Given the description of an element on the screen output the (x, y) to click on. 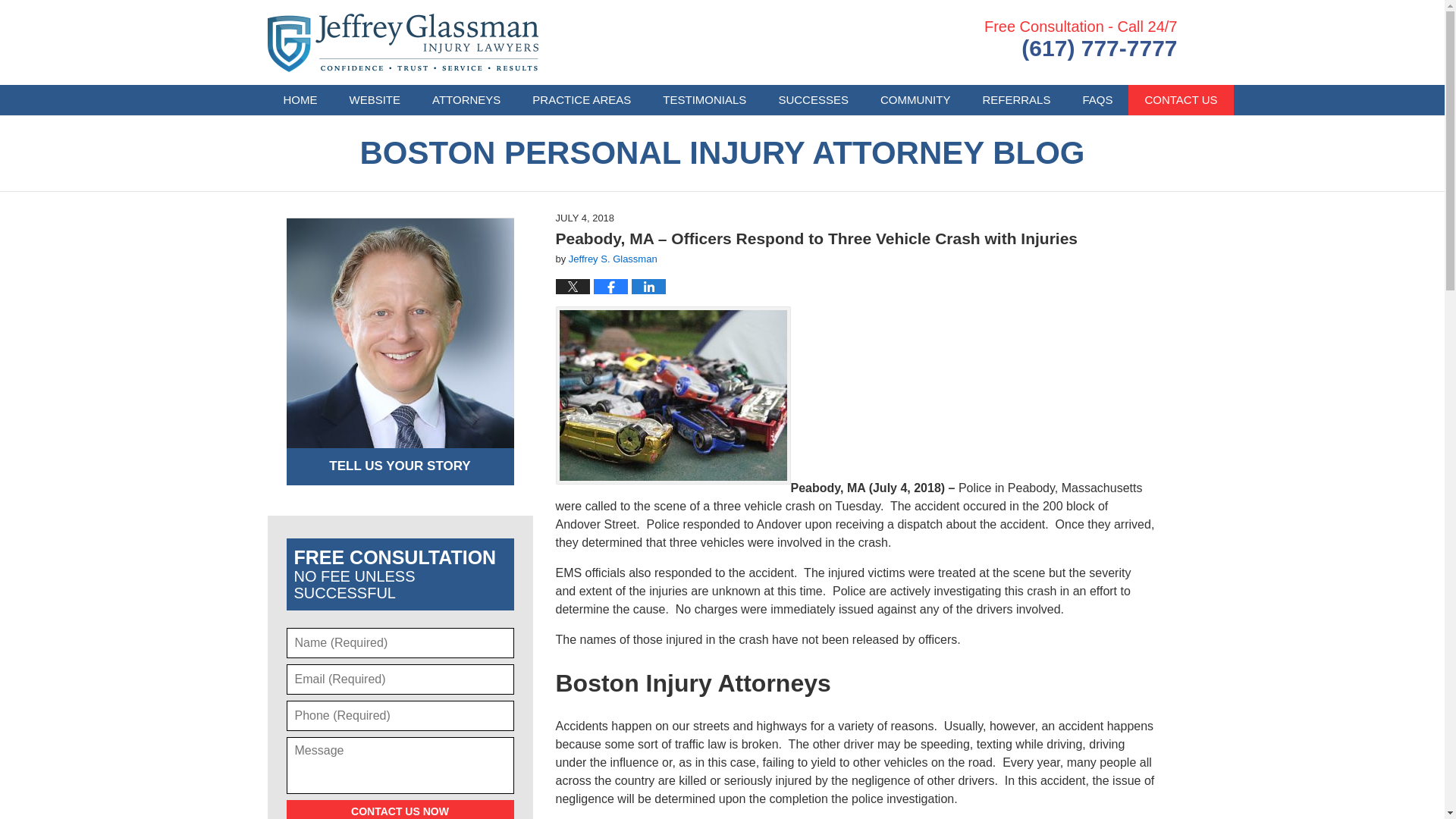
Boston Personal Injury Attorney Blog (401, 42)
TESTIMONIALS (703, 100)
FAQS (1096, 100)
PRACTICE AREAS (581, 100)
ATTORNEYS (466, 100)
HOME (299, 100)
WEBSITE (374, 100)
SUCCESSES (812, 100)
REFERRALS (1015, 100)
BOSTON PERSONAL INJURY ATTORNEY BLOG (722, 152)
COMMUNITY (915, 100)
CONTACT US (1180, 100)
Jeffrey S. Glassman (613, 258)
Please enter a valid phone number. (399, 716)
